Given the description of an element on the screen output the (x, y) to click on. 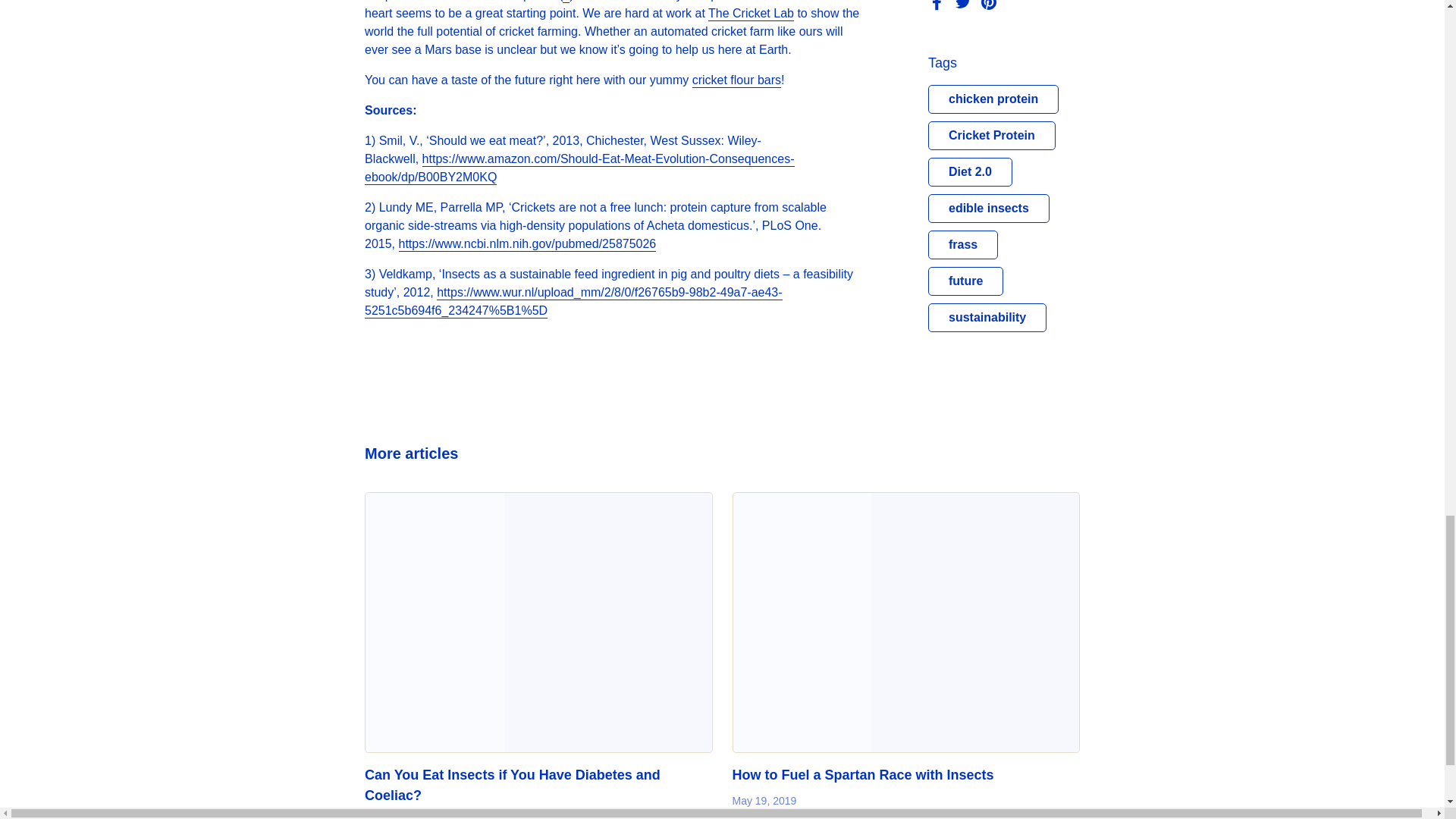
How to Fuel a Spartan Race with Insects (906, 622)
How to Fuel a Spartan Race with Insects (863, 775)
Can You Eat Insects if You Have Diabetes and Coeliac? (513, 785)
Can You Eat Insects if You Have Diabetes and Coeliac? (539, 622)
